Given the description of an element on the screen output the (x, y) to click on. 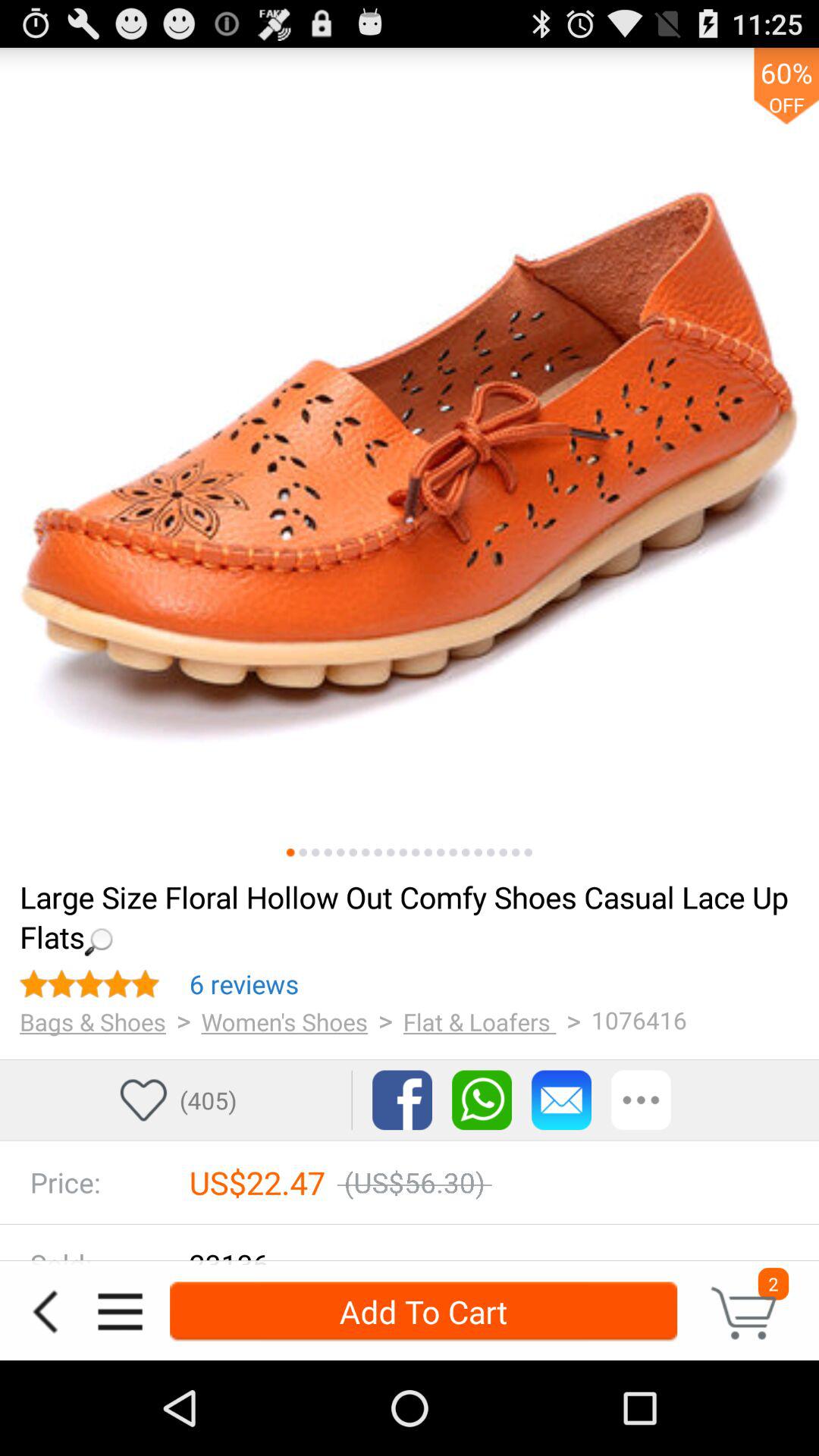
turn on the icon above loading... (353, 852)
